Given the description of an element on the screen output the (x, y) to click on. 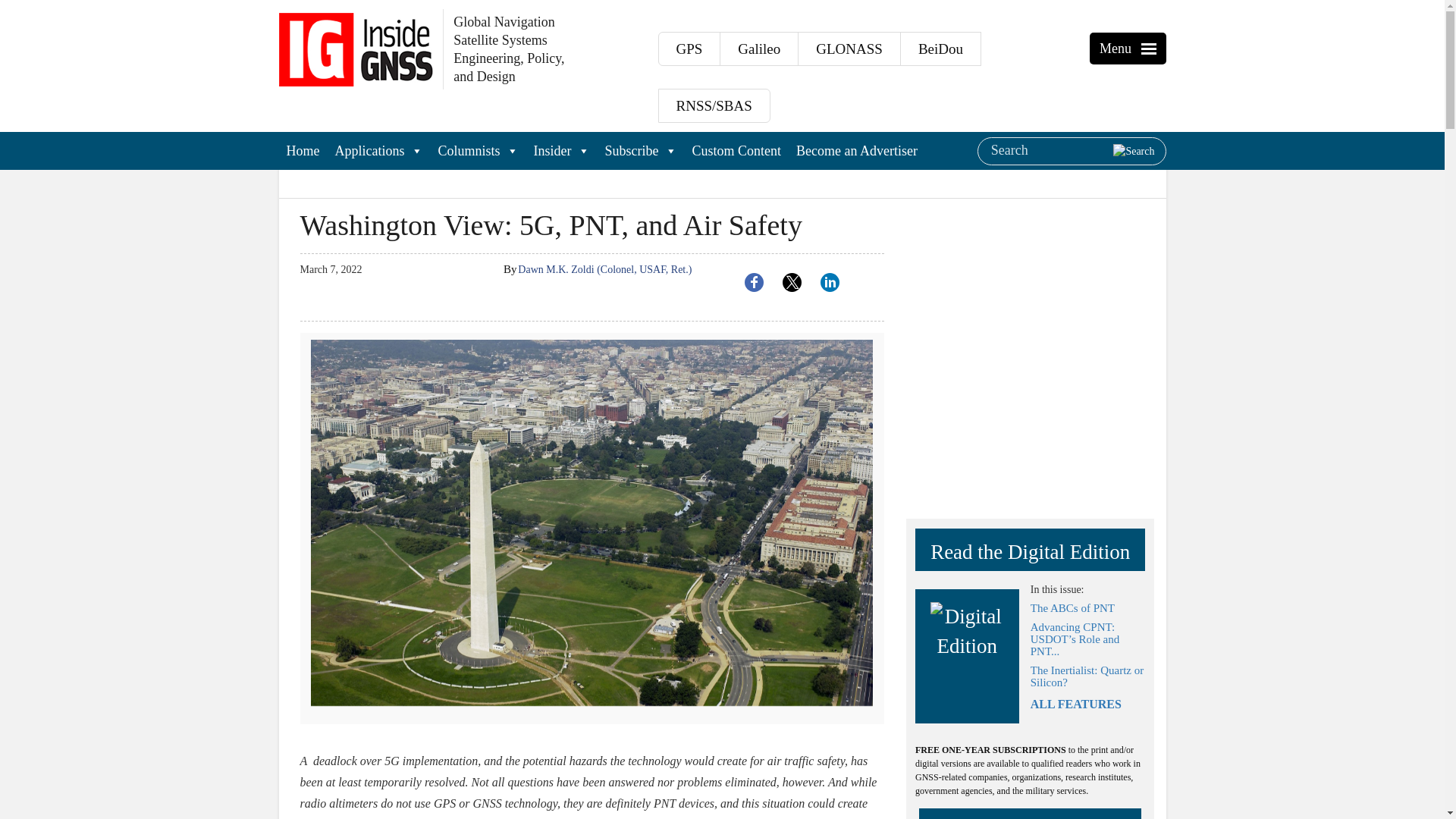
Columnists (477, 150)
BeiDou (940, 48)
GPS (689, 48)
Subscribe (640, 150)
Insider (560, 150)
Galileo (758, 48)
Menu (1150, 48)
GLONASS (849, 48)
Become an Advertiser (856, 150)
